Given the description of an element on the screen output the (x, y) to click on. 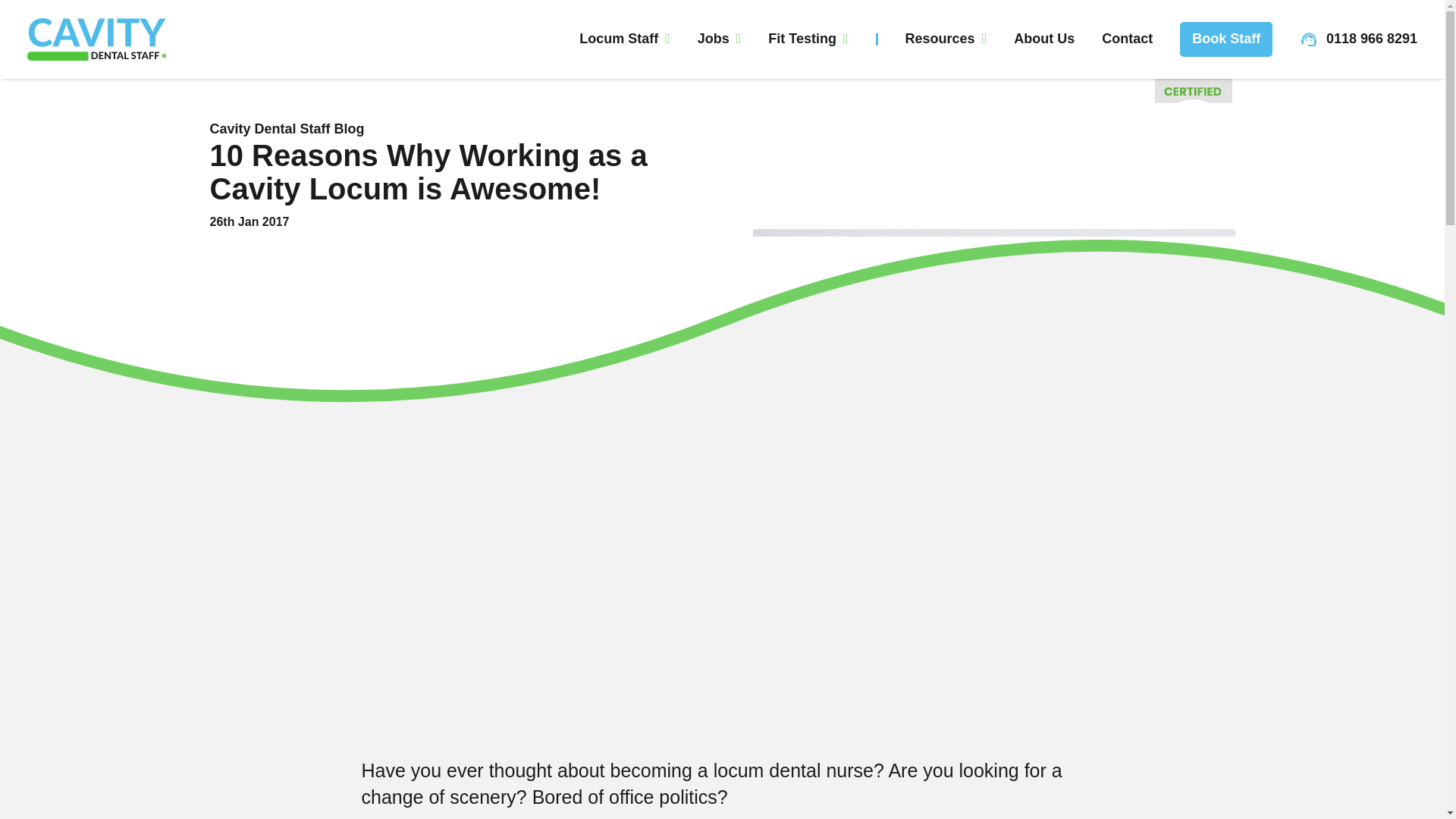
0118 966 8291 (1358, 38)
Locum Staff (624, 38)
Book Staff (1225, 39)
Locum Staff (624, 38)
Jobs (719, 38)
Cavity Dental Staff Agency (96, 39)
Contact (1127, 38)
Cavity Dental Staff Blog (286, 128)
Jobs (719, 38)
About Us (1043, 38)
